Given the description of an element on the screen output the (x, y) to click on. 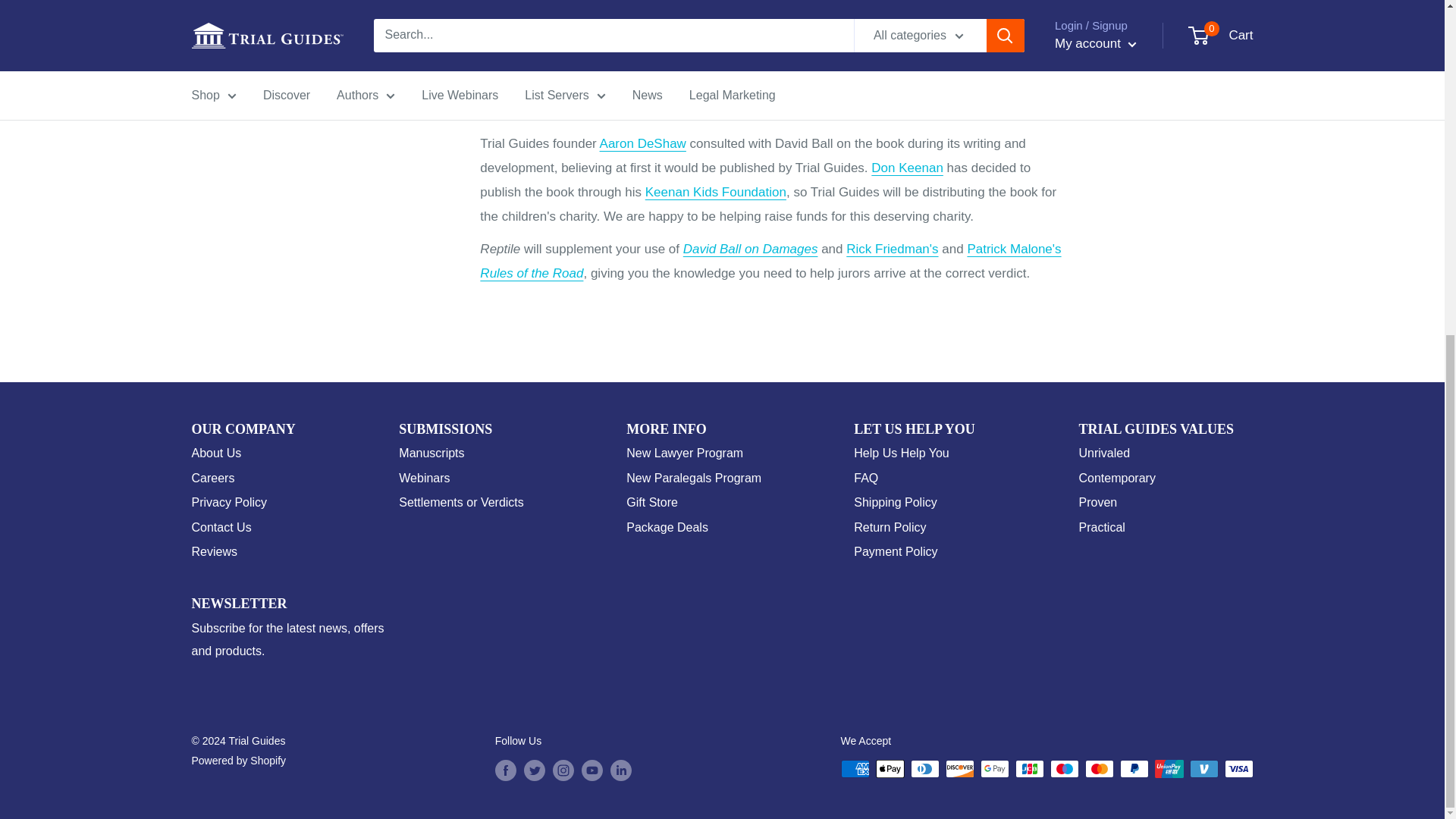
Rick Friedman (891, 248)
Keenan Kids Foundation (715, 192)
Moe Levine Juries are the conscience of the community (753, 98)
Reptile Keenan Ball (906, 167)
Moe Levine trial lawyer (797, 86)
David Ball on Damages (750, 248)
Rules of the Road Reptile (531, 273)
Aaron DeShaw (642, 143)
Patrick Malone (1013, 248)
